Given the description of an element on the screen output the (x, y) to click on. 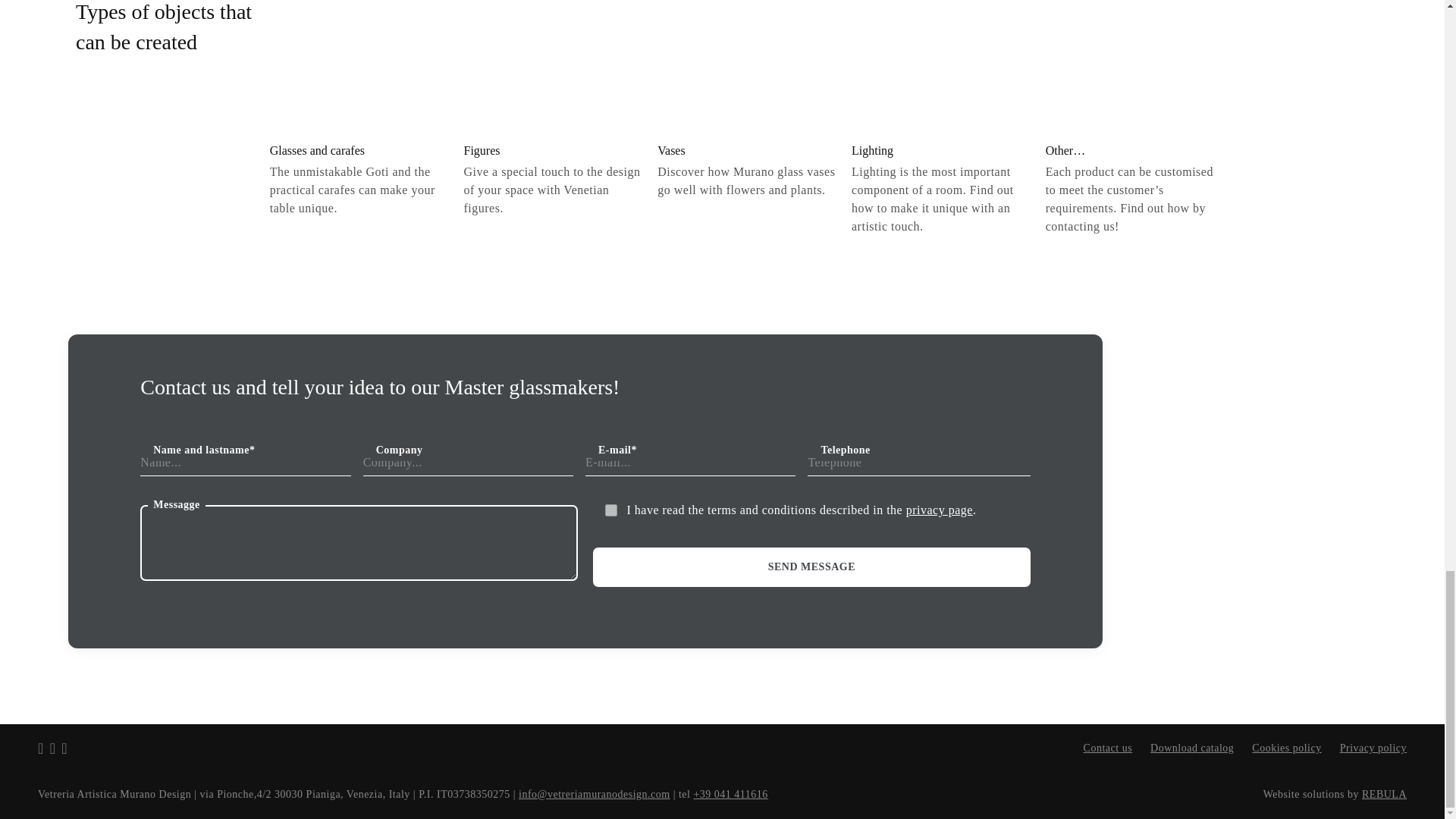
1 (611, 510)
SEND MESSAGE (811, 567)
